Given the description of an element on the screen output the (x, y) to click on. 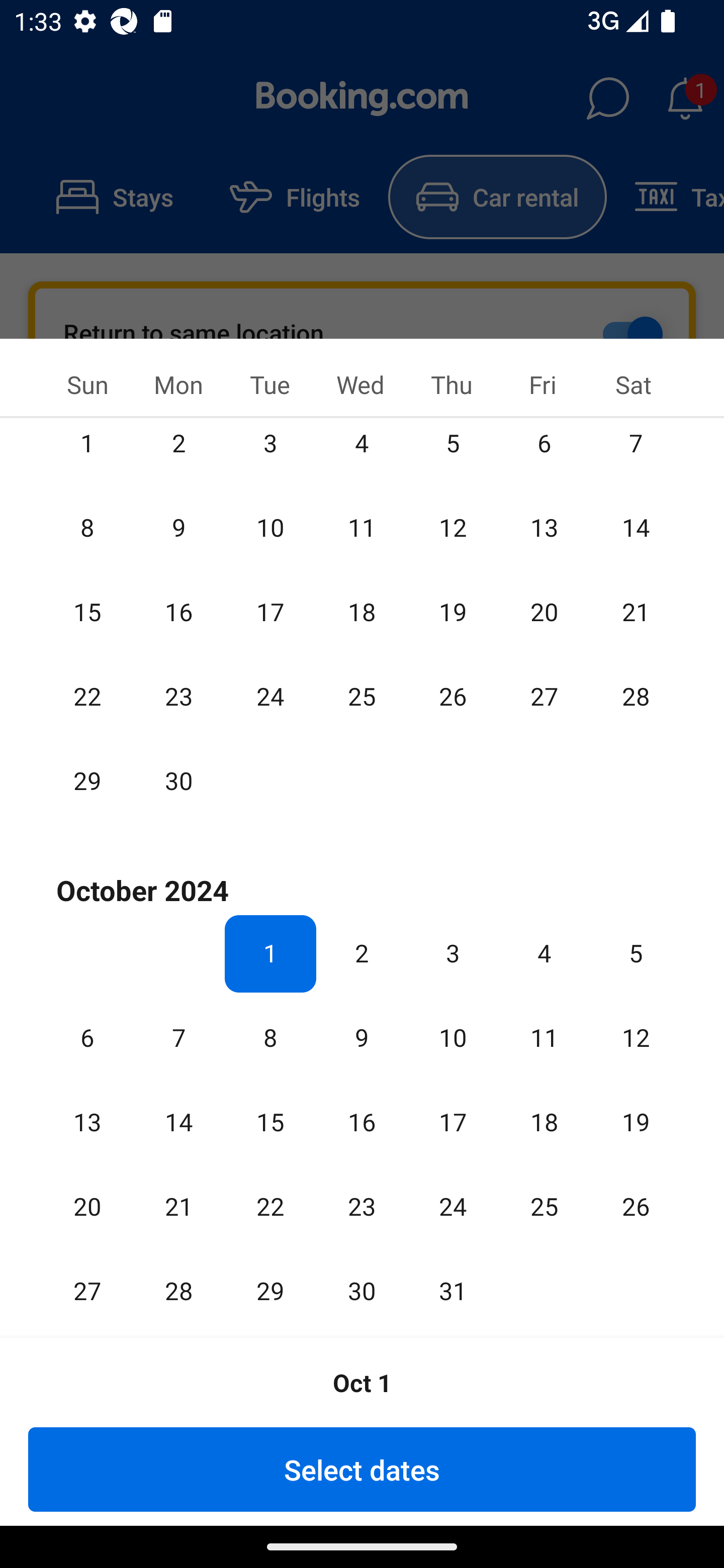
Select dates (361, 1468)
